Given the description of an element on the screen output the (x, y) to click on. 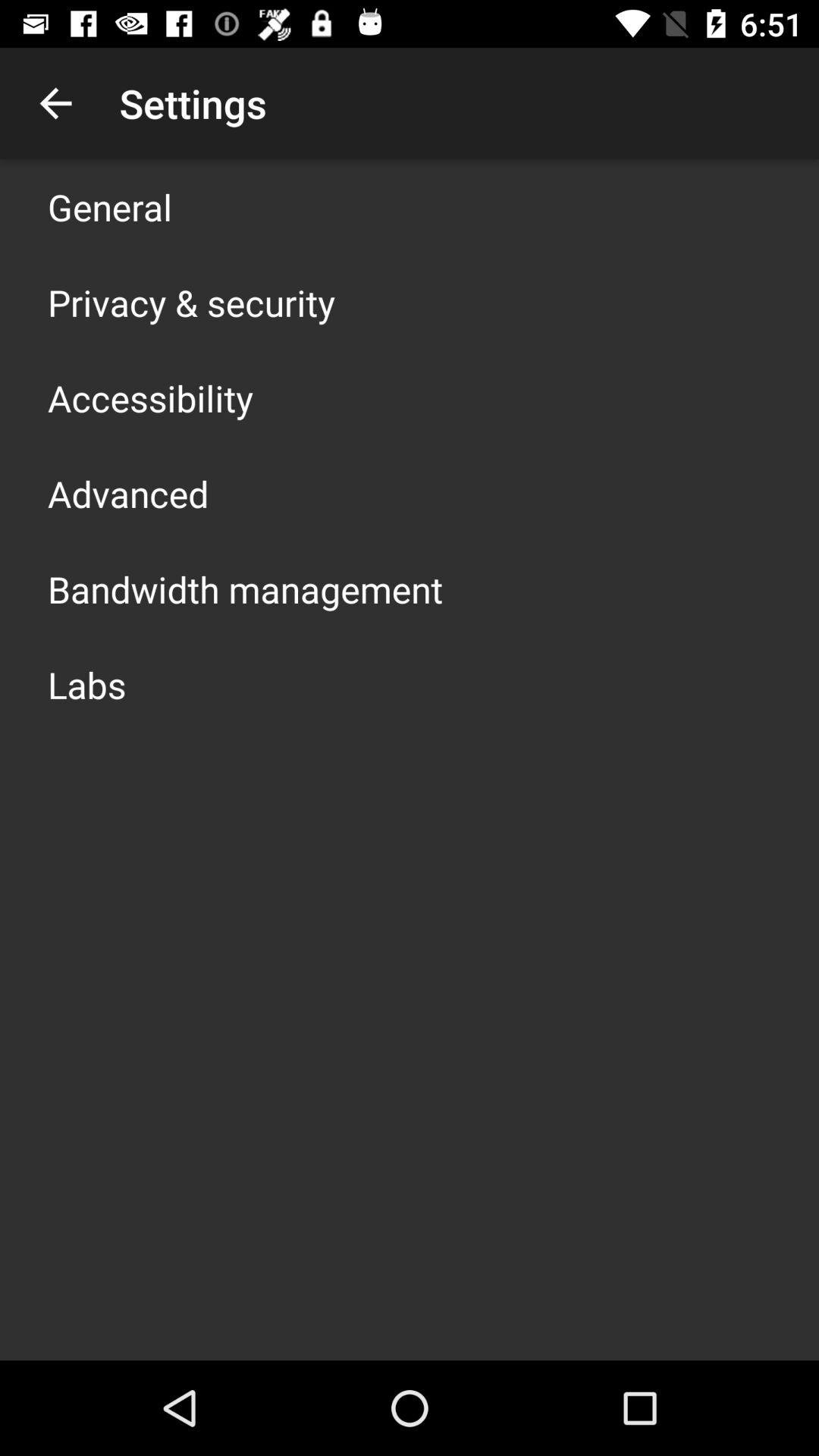
flip until the advanced icon (127, 493)
